Given the description of an element on the screen output the (x, y) to click on. 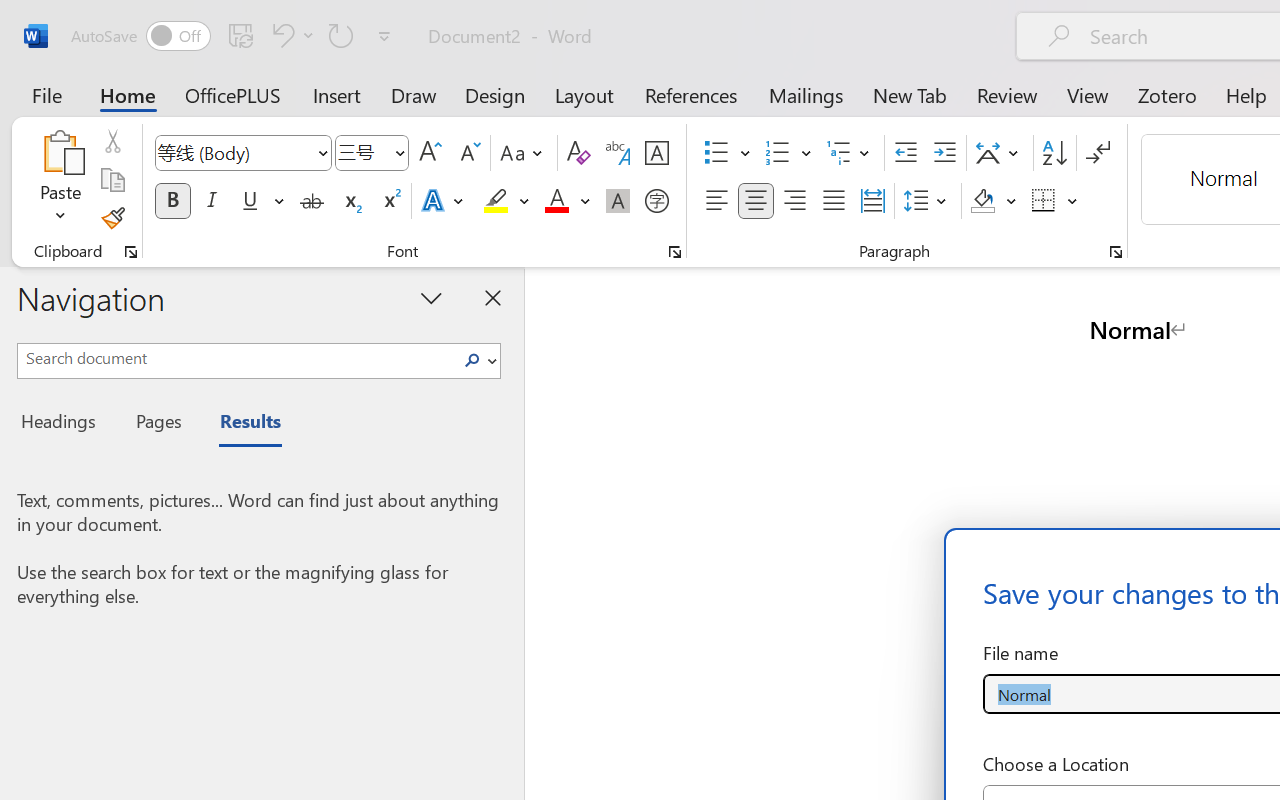
Font Color (567, 201)
File Tab (46, 94)
Repeat Style (341, 35)
Draw (413, 94)
Align Right (794, 201)
Center (756, 201)
Search (471, 360)
Asian Layout (1000, 153)
Quick Access Toolbar (233, 36)
Text Effects and Typography (444, 201)
Multilevel List (850, 153)
Office Clipboard... (131, 252)
Italic (212, 201)
Headings (64, 424)
Open (399, 152)
